Given the description of an element on the screen output the (x, y) to click on. 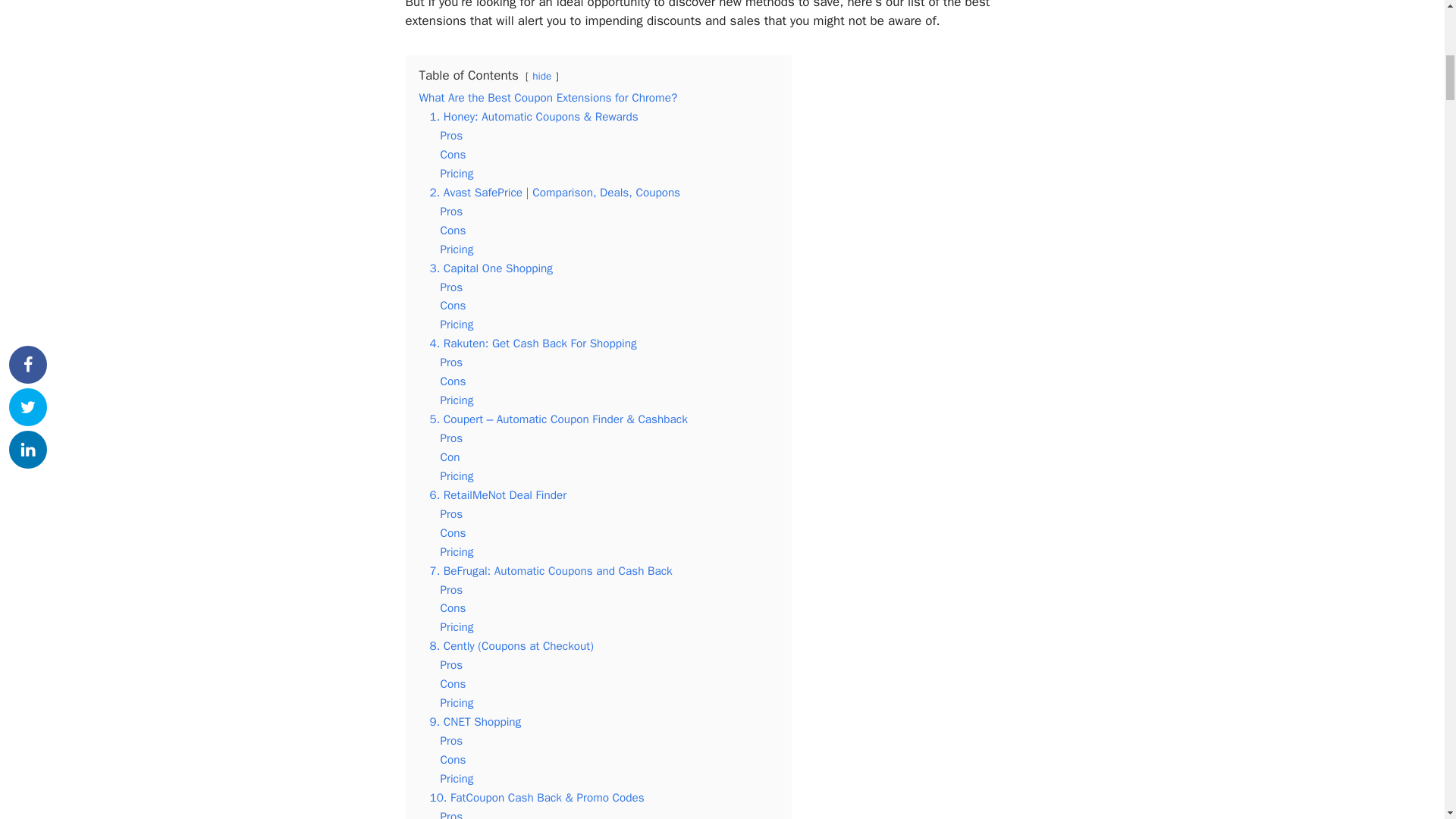
What Are the Best Coupon Extensions for Chrome? (548, 97)
hide (541, 75)
Cons (452, 154)
Cons (452, 230)
Pros (451, 211)
Pricing (456, 249)
Pricing (456, 173)
Pros (451, 135)
